Given the description of an element on the screen output the (x, y) to click on. 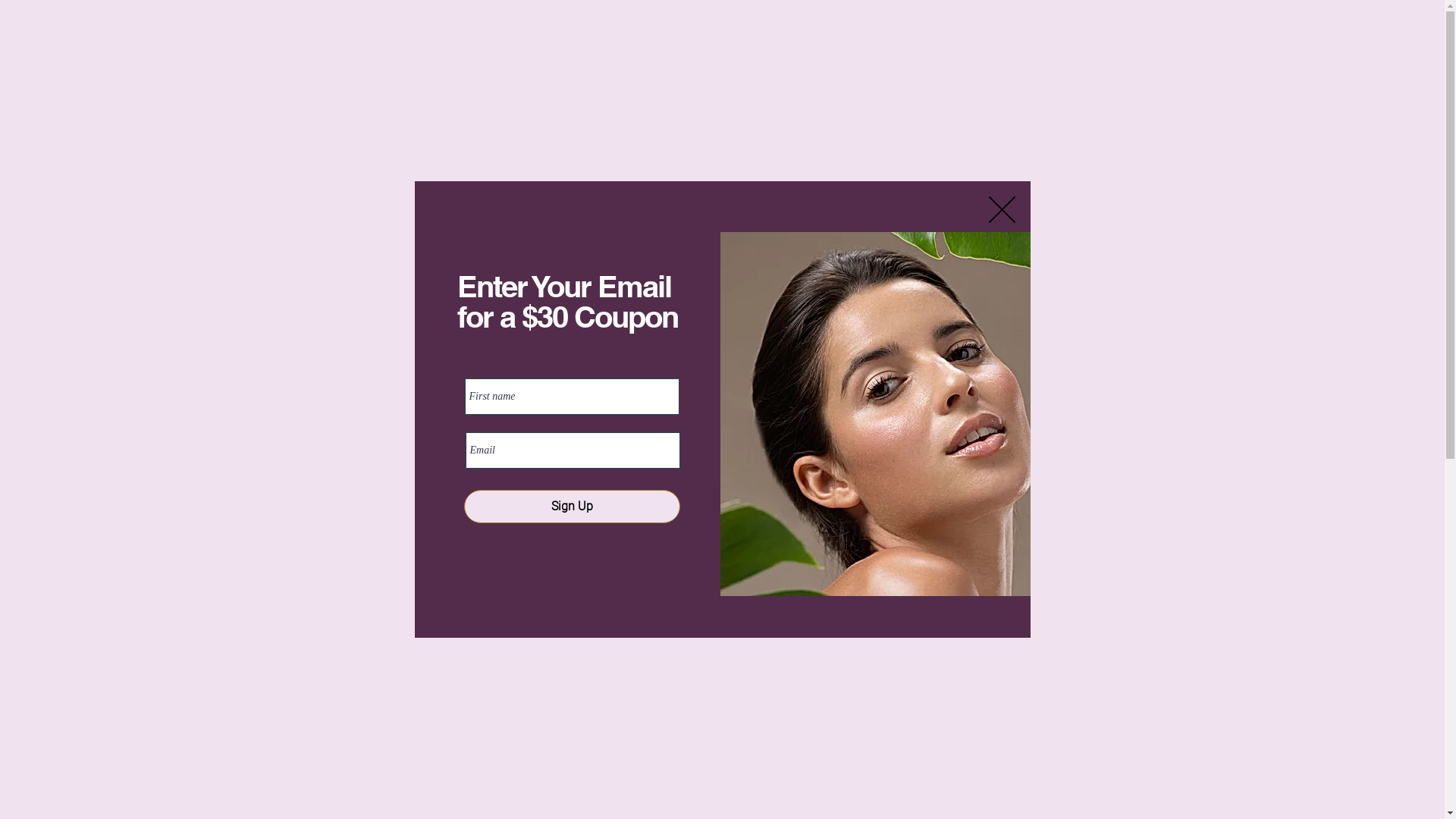
Profile Element type: text (393, 306)
0
Followers Element type: text (523, 253)
PRICES Element type: text (895, 94)
0
Following Element type: text (598, 253)
SHOP Element type: text (1080, 94)
BLOG Element type: text (946, 94)
ABOUT US Element type: text (613, 94)
BOOK NOW Element type: text (947, 35)
Back to site Element type: hover (1001, 209)
Log In Element type: text (1095, 34)
HOME Element type: text (552, 94)
Follow Element type: text (1024, 256)
EDUCATION Element type: text (760, 94)
0 Element type: text (1155, 35)
Program List Element type: text (847, 126)
POLICIES Element type: text (833, 94)
info@bellavitalaserclinic.ca Element type: text (721, 790)
Sign Up Element type: text (572, 506)
LOYALTY Element type: text (1135, 94)
SERVICES Element type: text (685, 94)
CONTACT US Element type: text (1012, 94)
